Given the description of an element on the screen output the (x, y) to click on. 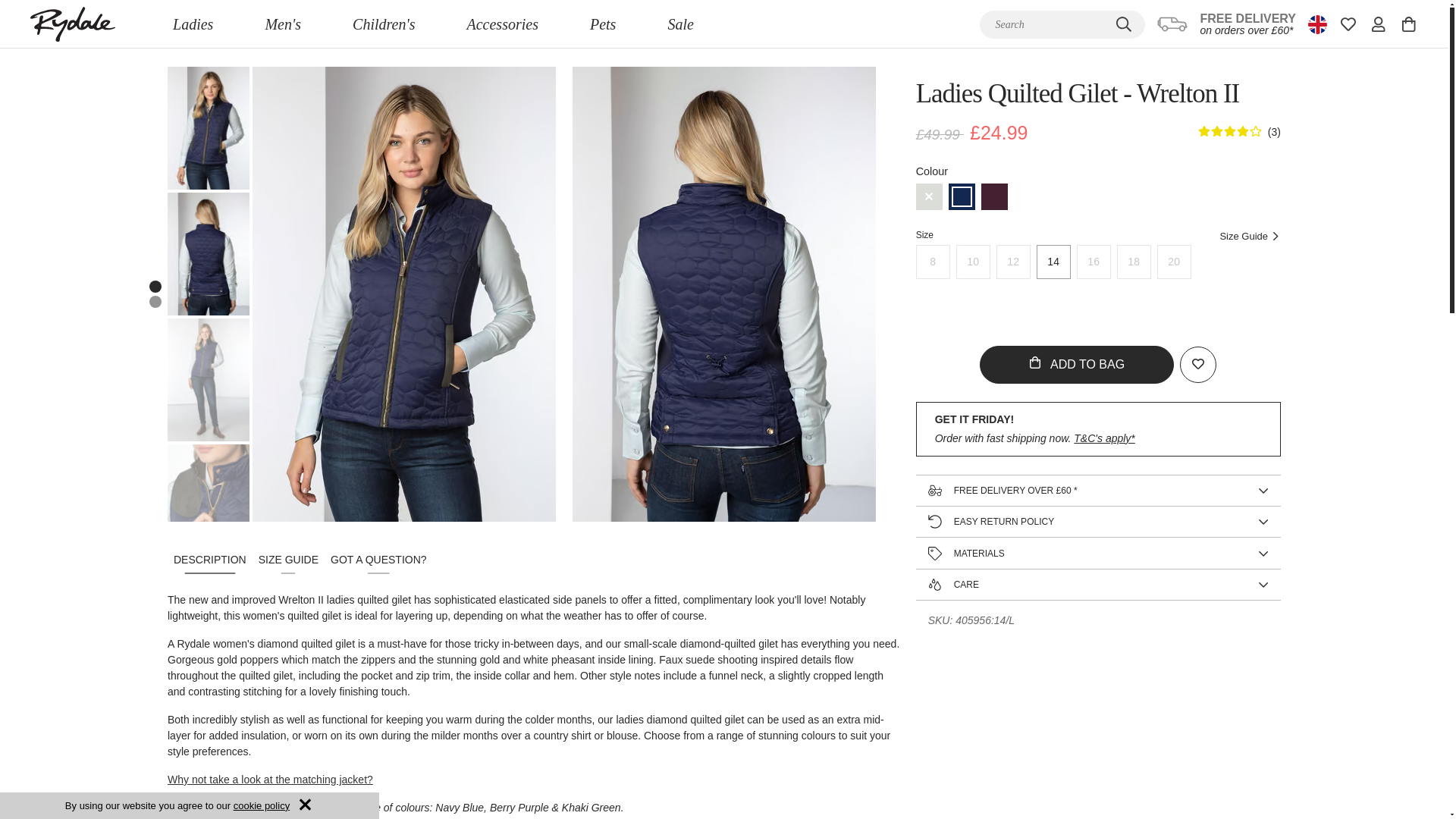
Men'S (282, 24)
Sale (680, 24)
cookie policy (260, 805)
Children'S (383, 24)
Pets (602, 24)
Ladies (192, 24)
Accessories (502, 24)
